Given the description of an element on the screen output the (x, y) to click on. 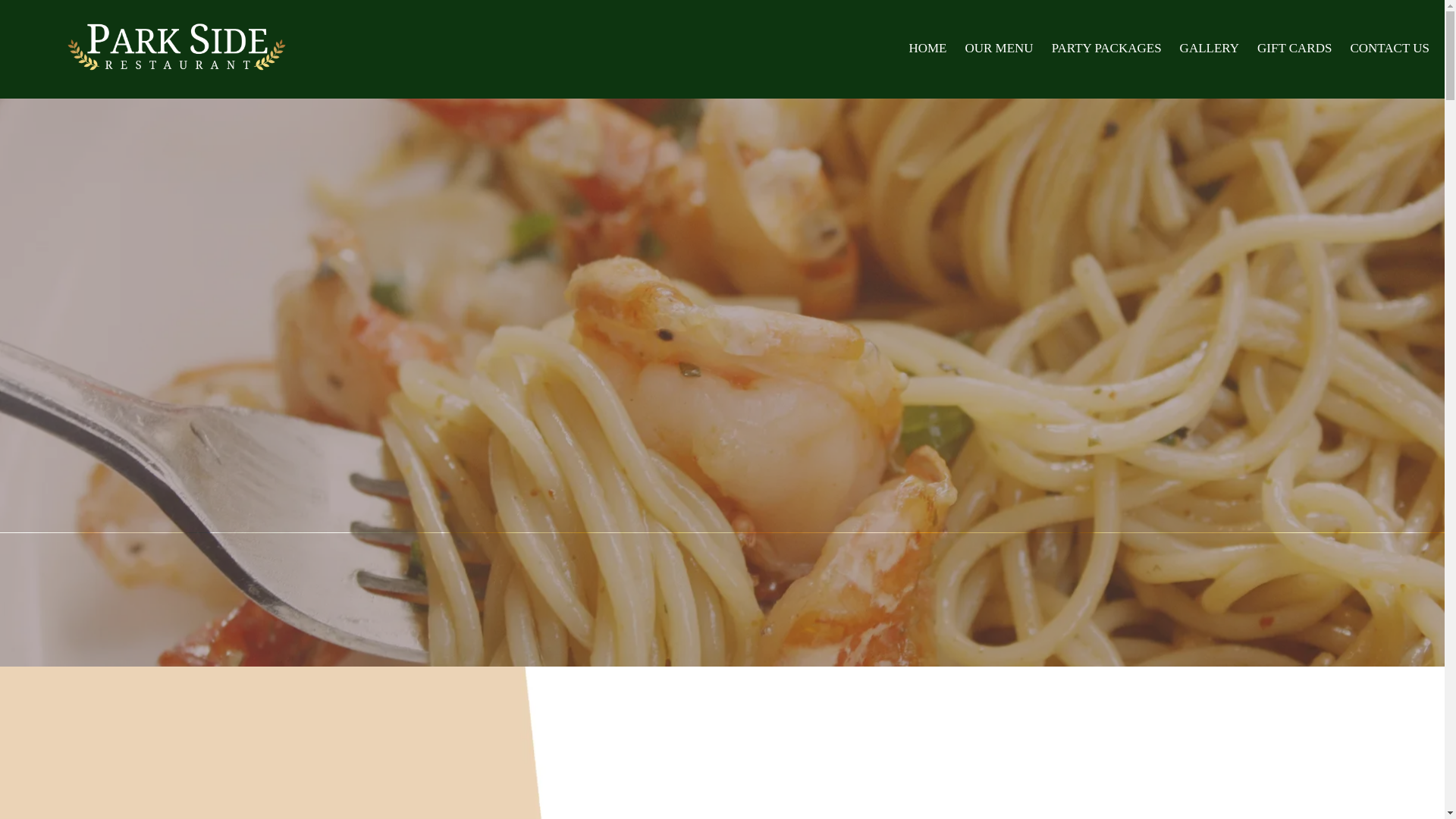
PARTY PACKAGES (1106, 48)
HOME (927, 48)
OUR MENU (998, 48)
CONTACT US (1389, 48)
GIFT CARDS (1293, 48)
GALLERY (1208, 48)
